Given the description of an element on the screen output the (x, y) to click on. 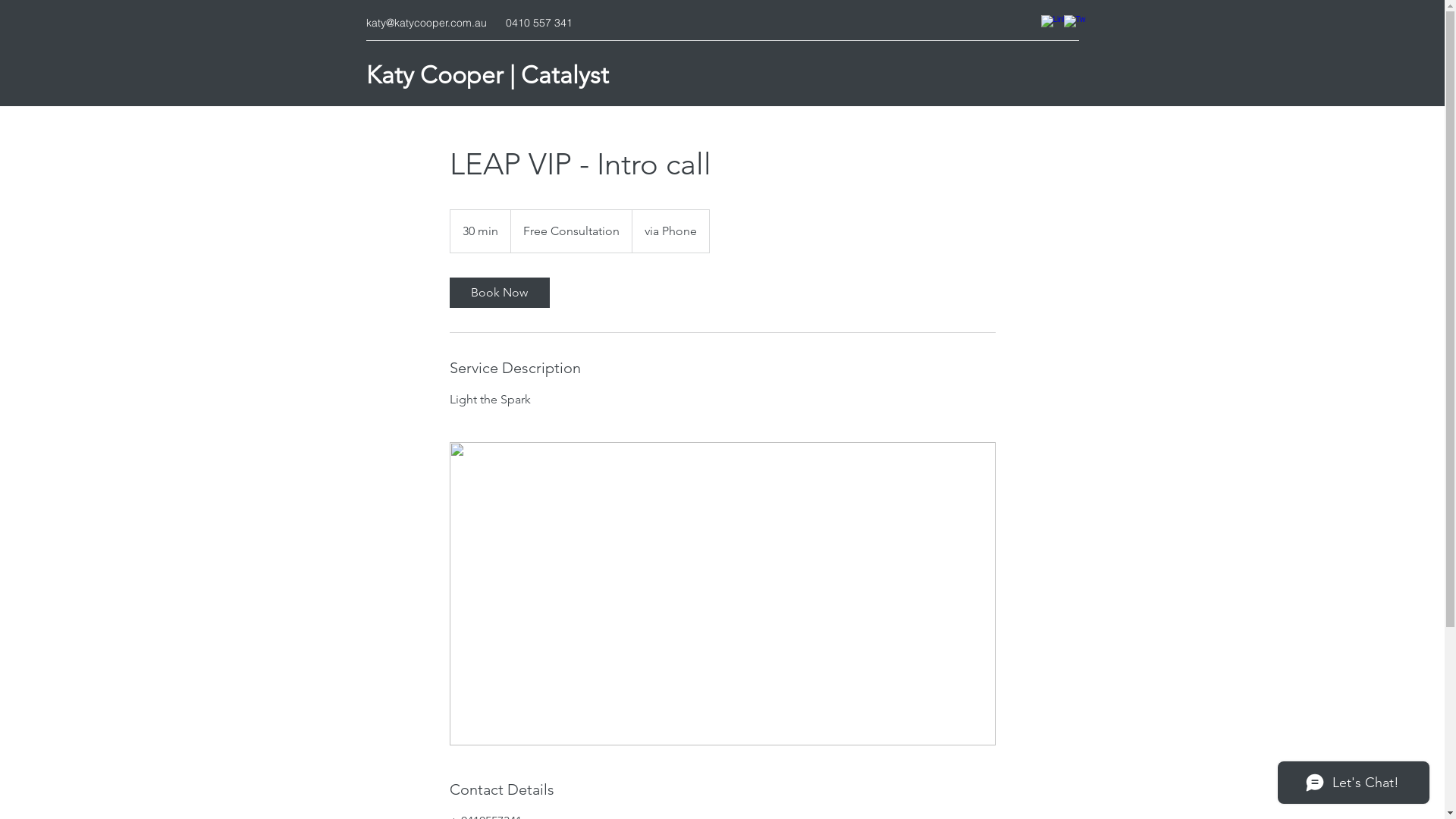
Book Now Element type: text (498, 292)
katy@katycooper.com.au Element type: text (425, 22)
